Given the description of an element on the screen output the (x, y) to click on. 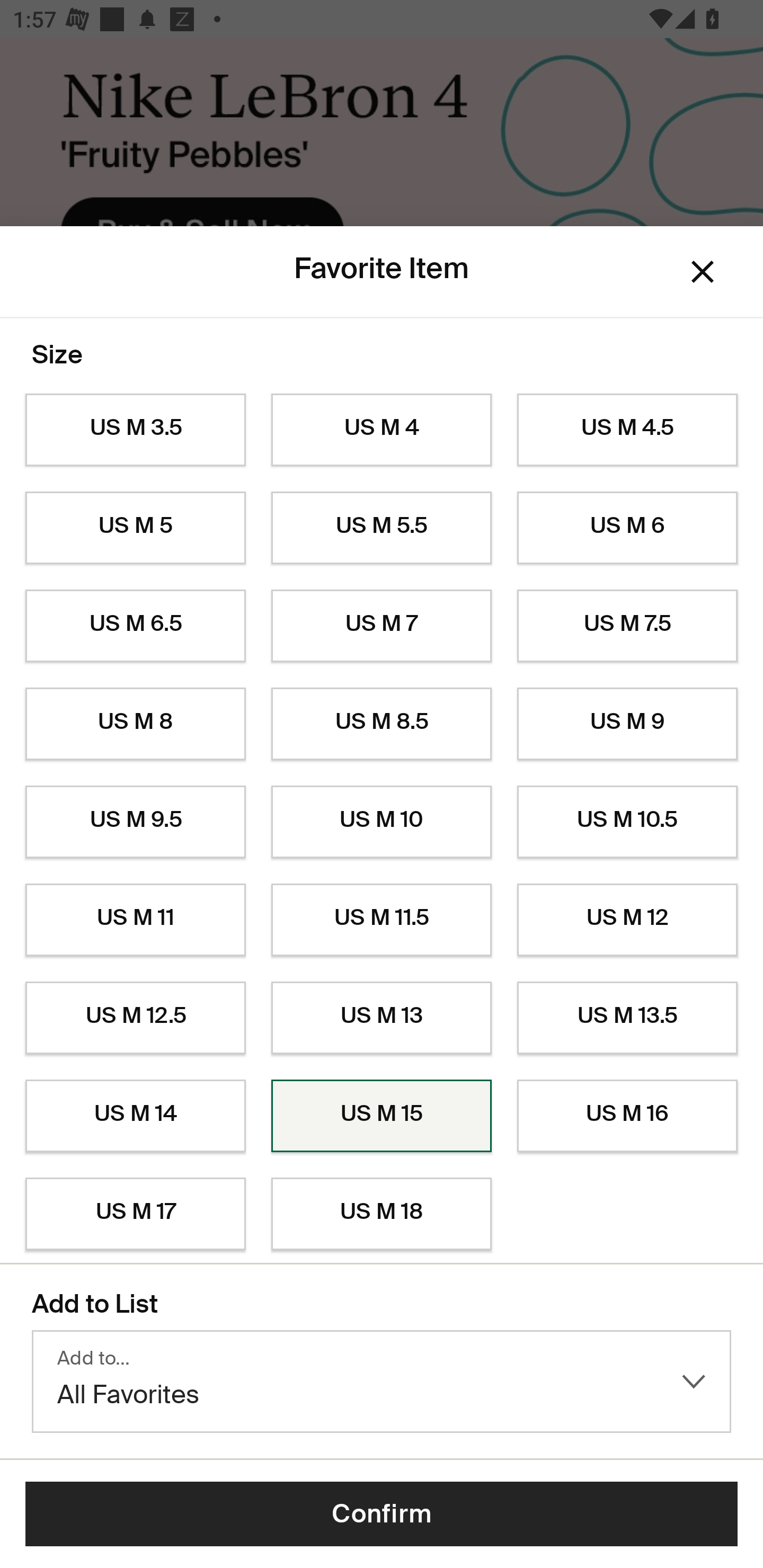
Dismiss (702, 271)
US M 3.5 (135, 430)
US M 4 (381, 430)
US M 4.5 (627, 430)
US M 5 (135, 527)
US M 5.5 (381, 527)
US M 6 (627, 527)
US M 6.5 (135, 626)
US M 7 (381, 626)
US M 7.5 (627, 626)
US M 8 (135, 724)
US M 8.5 (381, 724)
US M 9 (627, 724)
US M 9.5 (135, 822)
US M 10 (381, 822)
US M 10.5 (627, 822)
US M 11 (135, 919)
US M 11.5 (381, 919)
US M 12 (627, 919)
US M 12.5 (135, 1018)
US M 13 (381, 1018)
US M 13.5 (627, 1018)
US M 14 (135, 1116)
US M 15 (381, 1116)
US M 16 (627, 1116)
US M 17 (135, 1214)
US M 18 (381, 1214)
Add to… All Favorites (381, 1381)
Confirm (381, 1513)
